Given the description of an element on the screen output the (x, y) to click on. 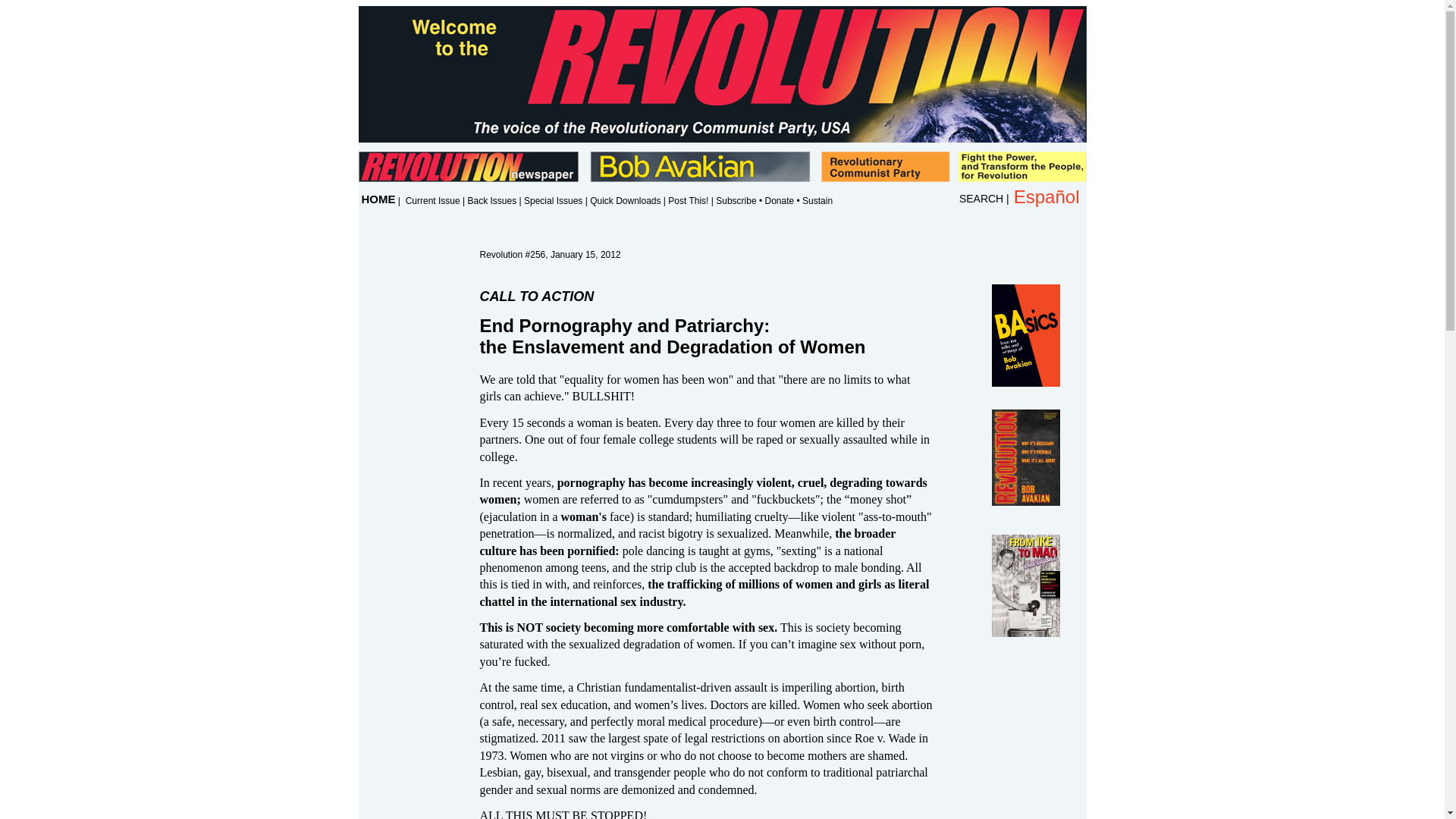
SEARCH (981, 198)
Current Issue (433, 200)
Post This! (687, 200)
Special Issues (553, 200)
Quick Downloads (625, 200)
Back Issues (491, 200)
HOME (377, 198)
